Given the description of an element on the screen output the (x, y) to click on. 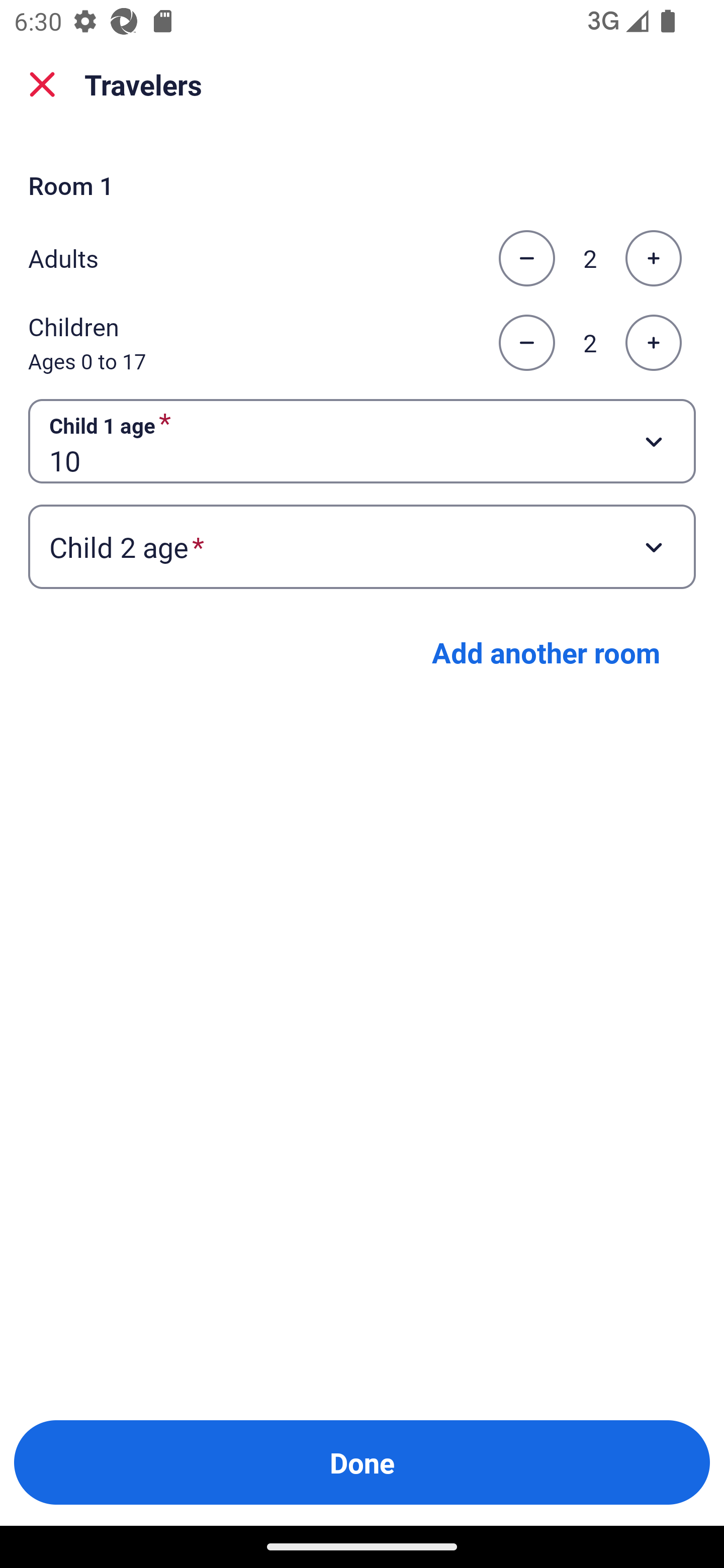
close (42, 84)
Decrease the number of adults (526, 258)
Increase the number of adults (653, 258)
Decrease the number of children (526, 343)
Increase the number of children (653, 343)
Child 1 age required Button 10 (361, 440)
Child 2 age required Button (361, 546)
Add another room (545, 651)
Done (361, 1462)
